Given the description of an element on the screen output the (x, y) to click on. 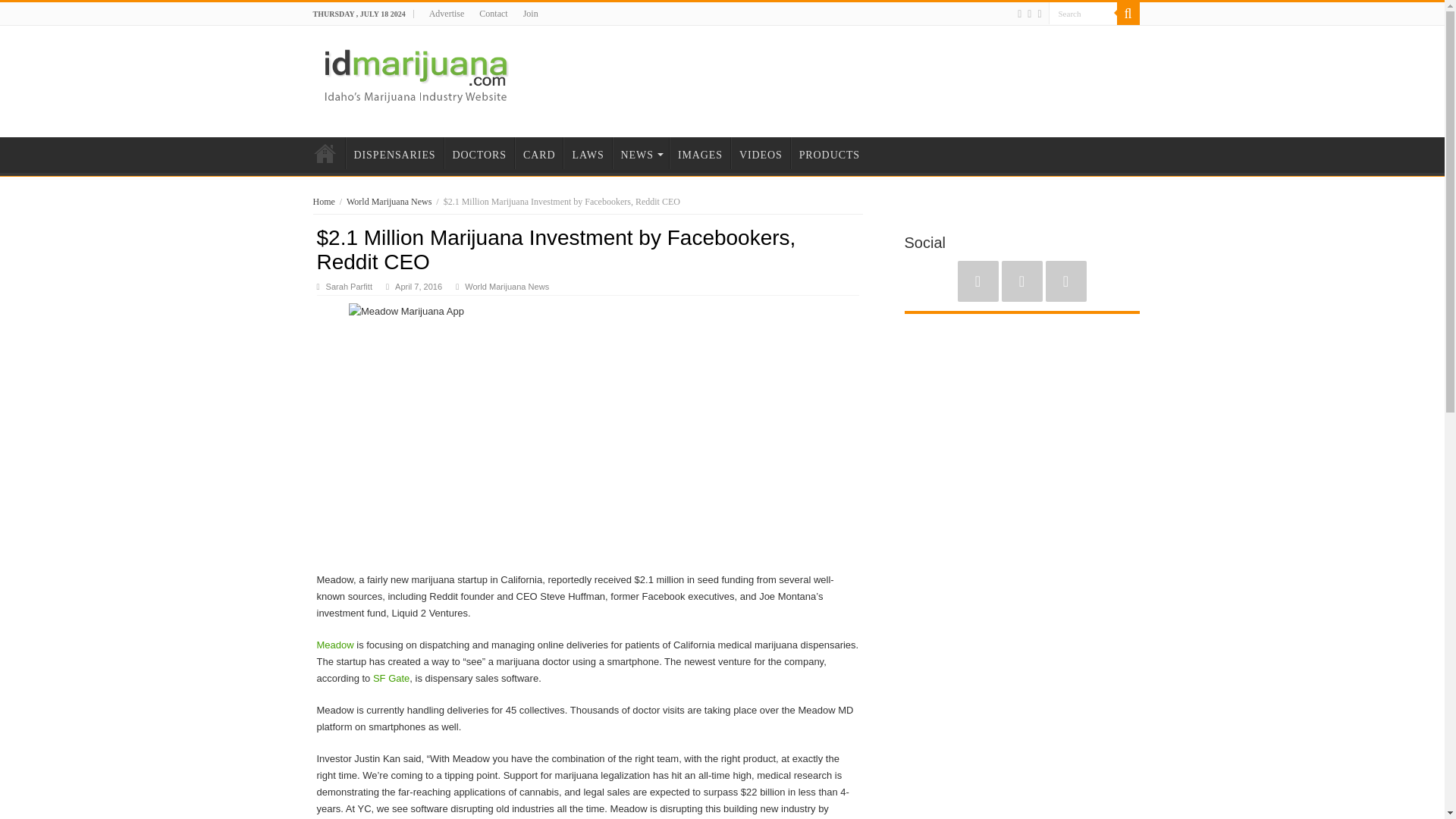
HOME (323, 152)
NEWS (640, 152)
IMAGES (699, 152)
SF Gate (390, 677)
Search (1082, 13)
Search (1127, 13)
World Marijuana News (506, 286)
Join (530, 13)
DOCTORS (478, 152)
VIDEOS (760, 152)
Facebook (1021, 281)
Search (1082, 13)
LinkedIn (1065, 281)
DISPENSARIES (395, 152)
Home (323, 201)
